Given the description of an element on the screen output the (x, y) to click on. 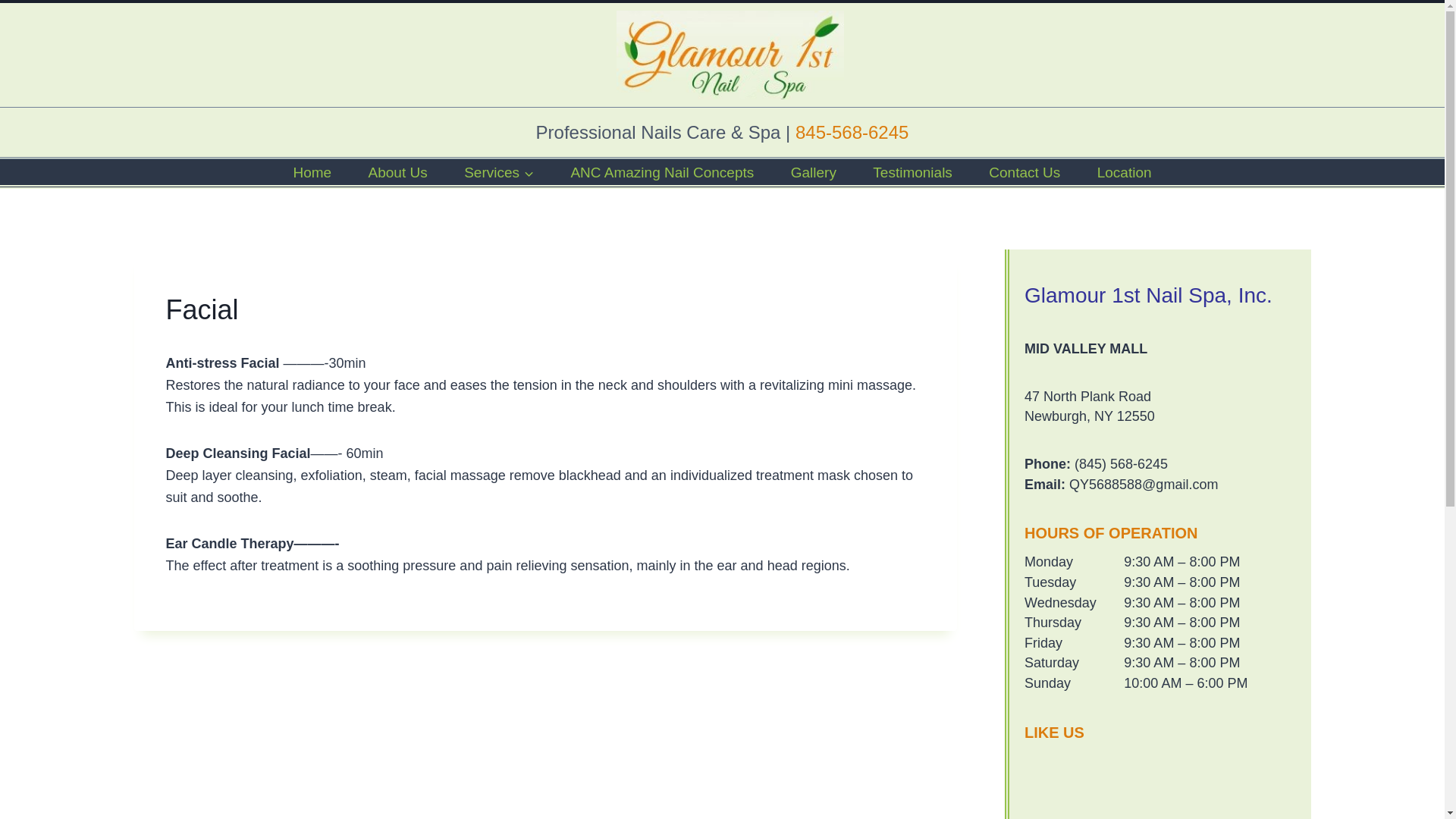
ANC Amazing Nail Concepts (661, 171)
Contact Us (1024, 171)
Testimonials (912, 171)
About Us (397, 171)
Services (498, 171)
Home (312, 171)
Gallery (812, 171)
Location (1124, 171)
845-568-6245 (851, 132)
